Given the description of an element on the screen output the (x, y) to click on. 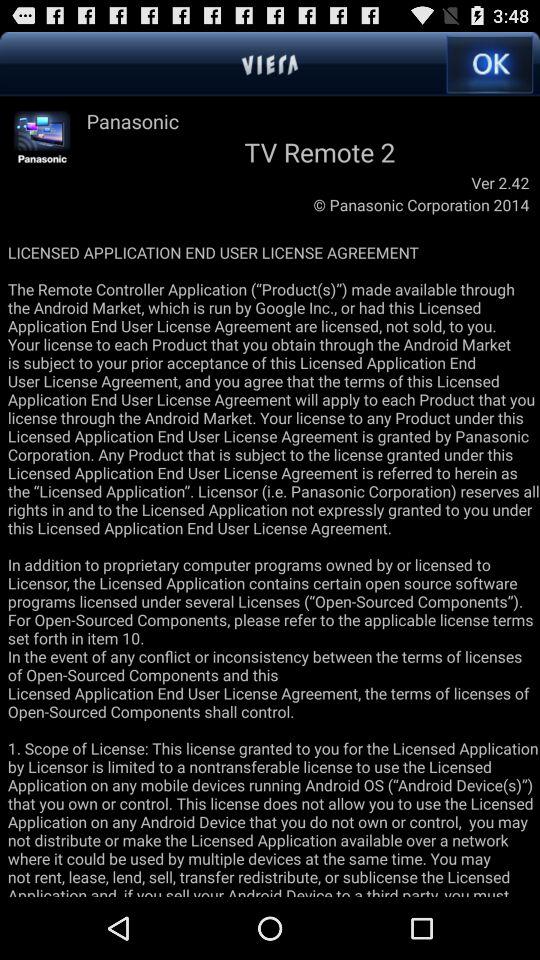
ok button (489, 64)
